Given the description of an element on the screen output the (x, y) to click on. 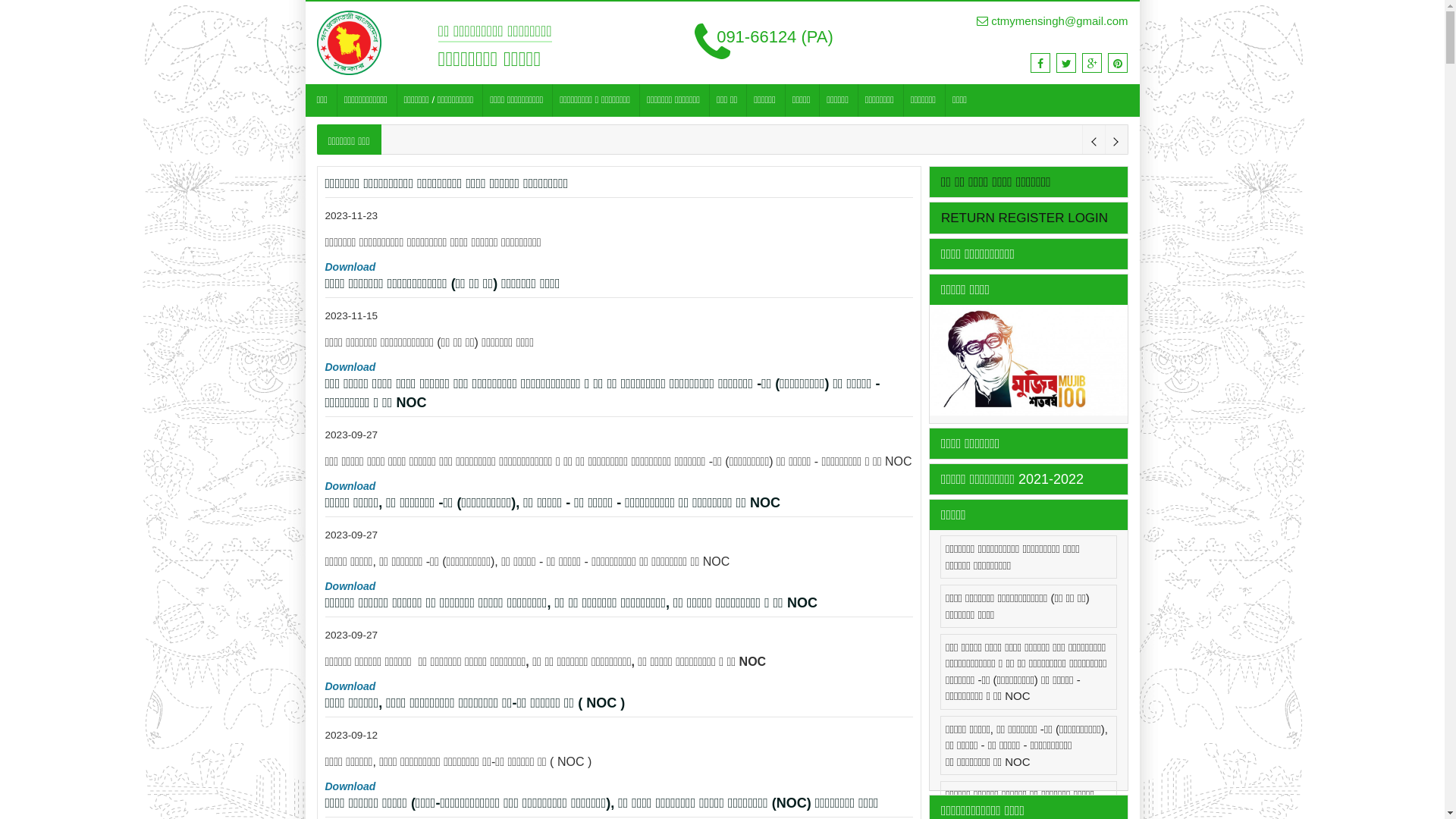
ctmymensingh@gmail.com Element type: text (1051, 20)
Download Element type: text (349, 586)
Download Element type: text (349, 486)
091-66124 (PA) Element type: text (763, 42)
Download Element type: text (349, 366)
Download Element type: text (349, 266)
Download Element type: text (349, 686)
RETURN REGISTER LOGIN Element type: text (1024, 217)
Download Element type: text (349, 786)
